Given the description of an element on the screen output the (x, y) to click on. 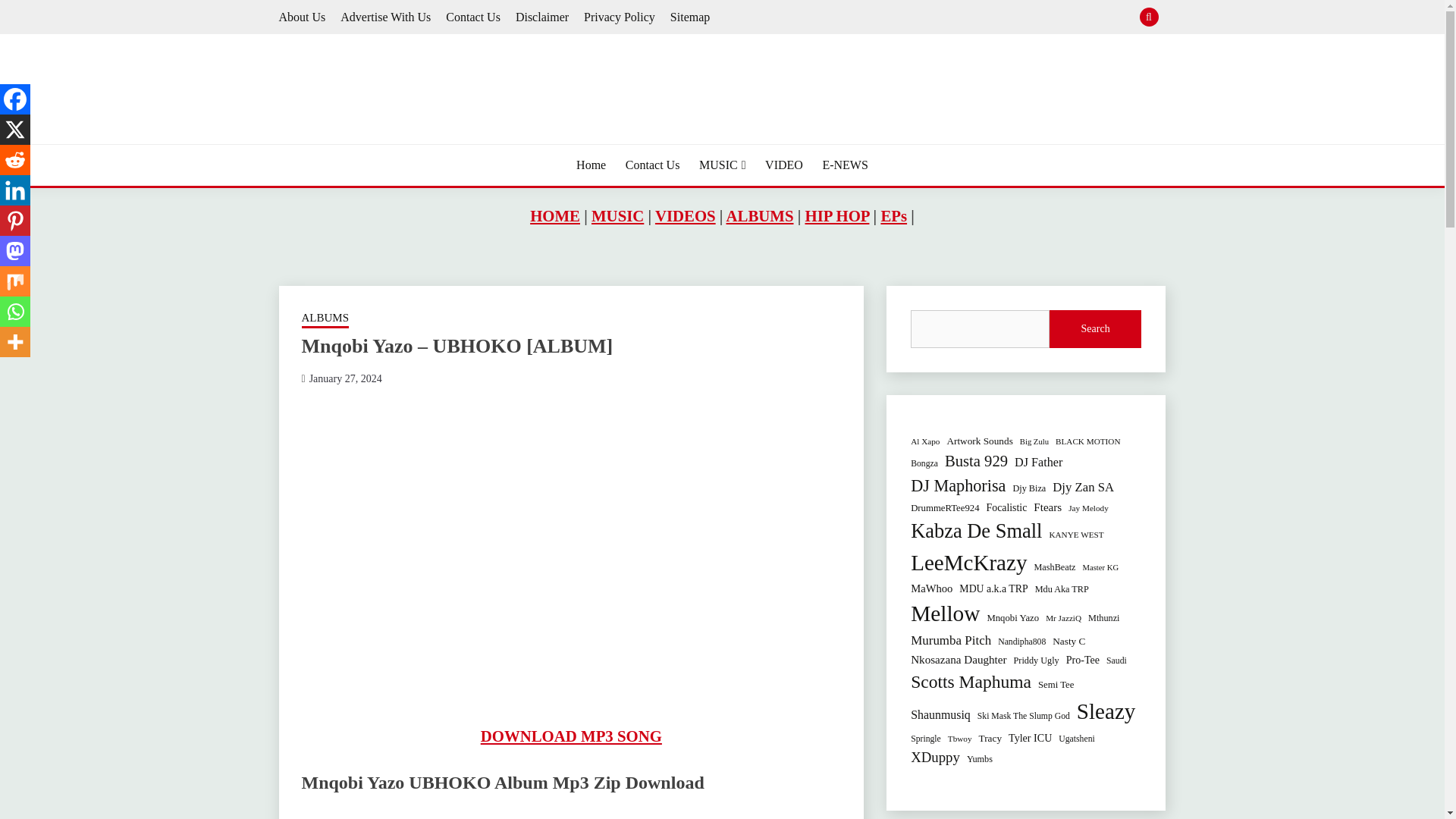
OKAYTUNE (355, 142)
Contact Us (652, 165)
VIDEOS (685, 215)
Disclaimer (542, 16)
MUSIC (721, 165)
Home (590, 165)
HOME (554, 215)
Facebook (15, 99)
HIP HOP (837, 215)
Reddit (15, 159)
E-NEWS (844, 165)
Linkedin (15, 190)
January 27, 2024 (344, 378)
Sitemap (689, 16)
About Us (302, 16)
